Given the description of an element on the screen output the (x, y) to click on. 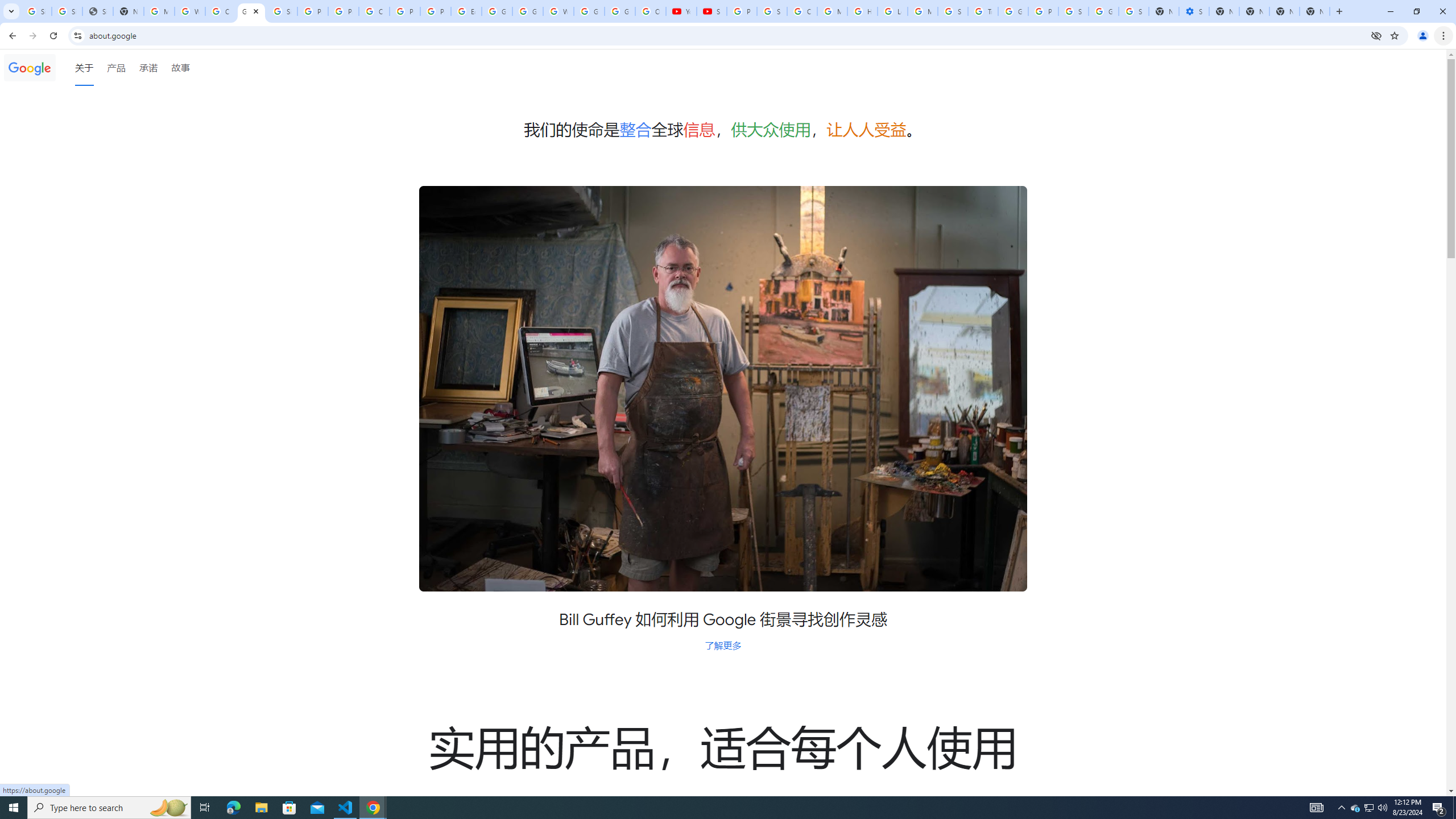
Google Ads - Sign in (1012, 11)
Google Account (619, 11)
Minimize (1390, 11)
Sign in - Google Accounts (1072, 11)
Settings - Performance (1193, 11)
Sign in - Google Accounts (36, 11)
Google Cybersecurity Innovations - Google Safety Center (1103, 11)
Create your Google Account (373, 11)
Sign In - USA TODAY (97, 11)
Google (29, 67)
Create your Google Account (220, 11)
Sign in - Google Accounts (1133, 11)
